Given the description of an element on the screen output the (x, y) to click on. 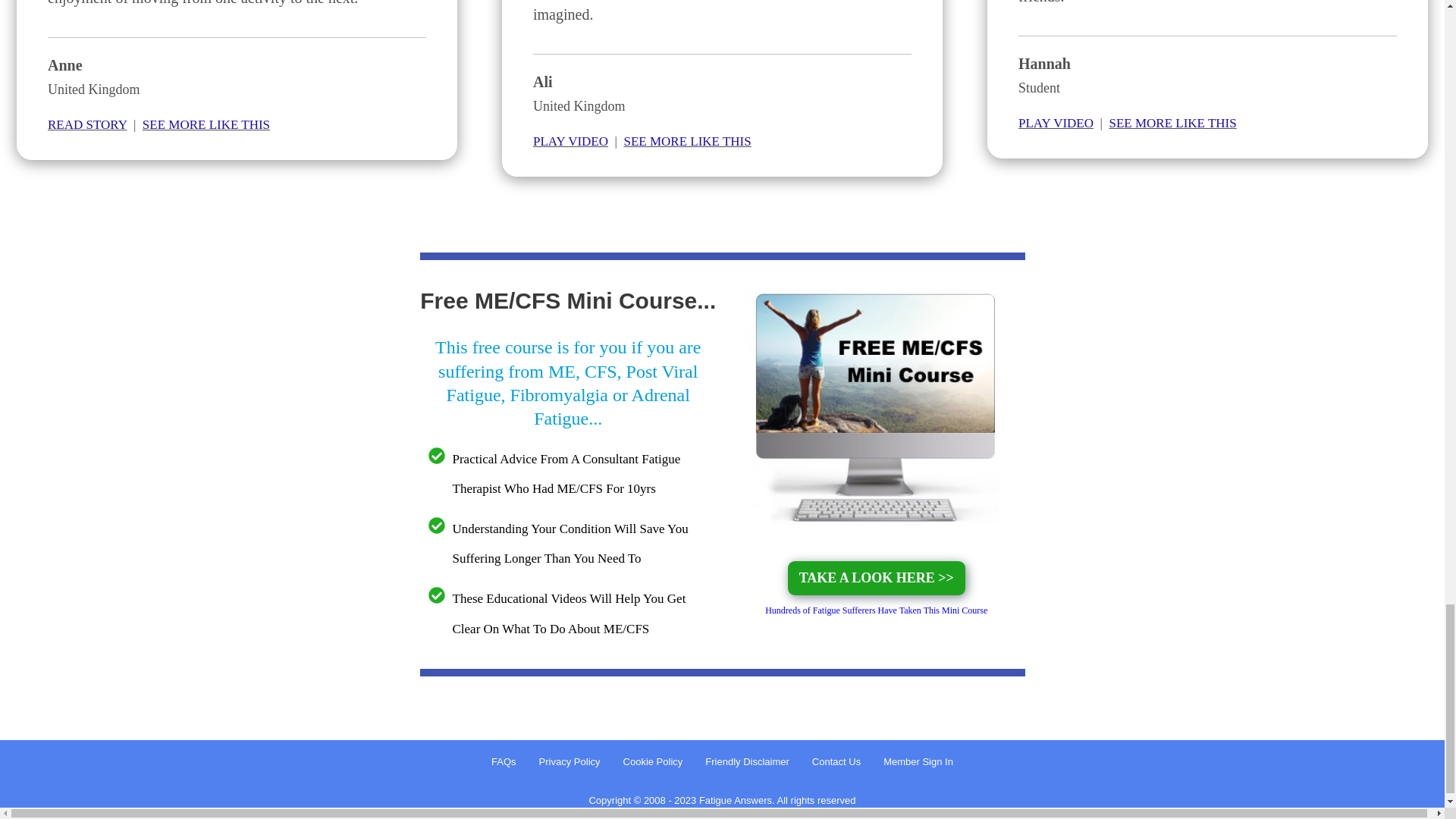
Member Sign In (918, 762)
READ STORY (87, 124)
SEE MORE LIKE THIS (687, 141)
SEE MORE LIKE THIS (1172, 123)
Contact Us (836, 762)
free-me-cfs-mini-course (876, 408)
FAQs (504, 762)
Friendly Disclaimer (746, 762)
PLAY VIDEO (570, 141)
Privacy Policy (568, 762)
